Given the description of an element on the screen output the (x, y) to click on. 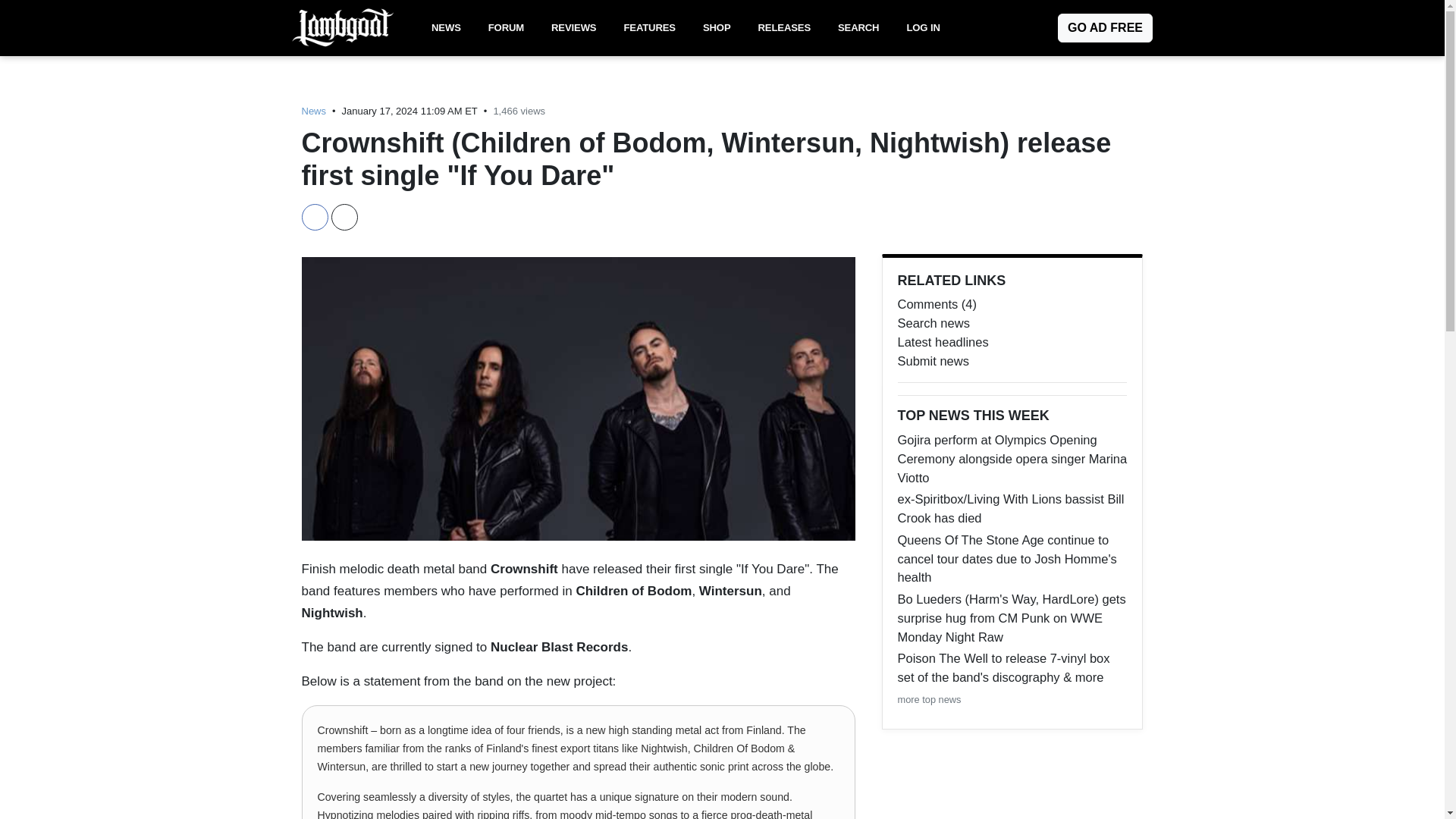
News (313, 111)
GO AD FREE (1105, 27)
FORUM (505, 27)
Latest headlines (1012, 342)
SHOP (716, 27)
more top news (929, 699)
Search news (1012, 322)
SEARCH (858, 27)
REVIEWS (573, 27)
RELEASES (784, 27)
FEATURES (649, 27)
Submit news (1012, 361)
NEWS (446, 27)
